Given the description of an element on the screen output the (x, y) to click on. 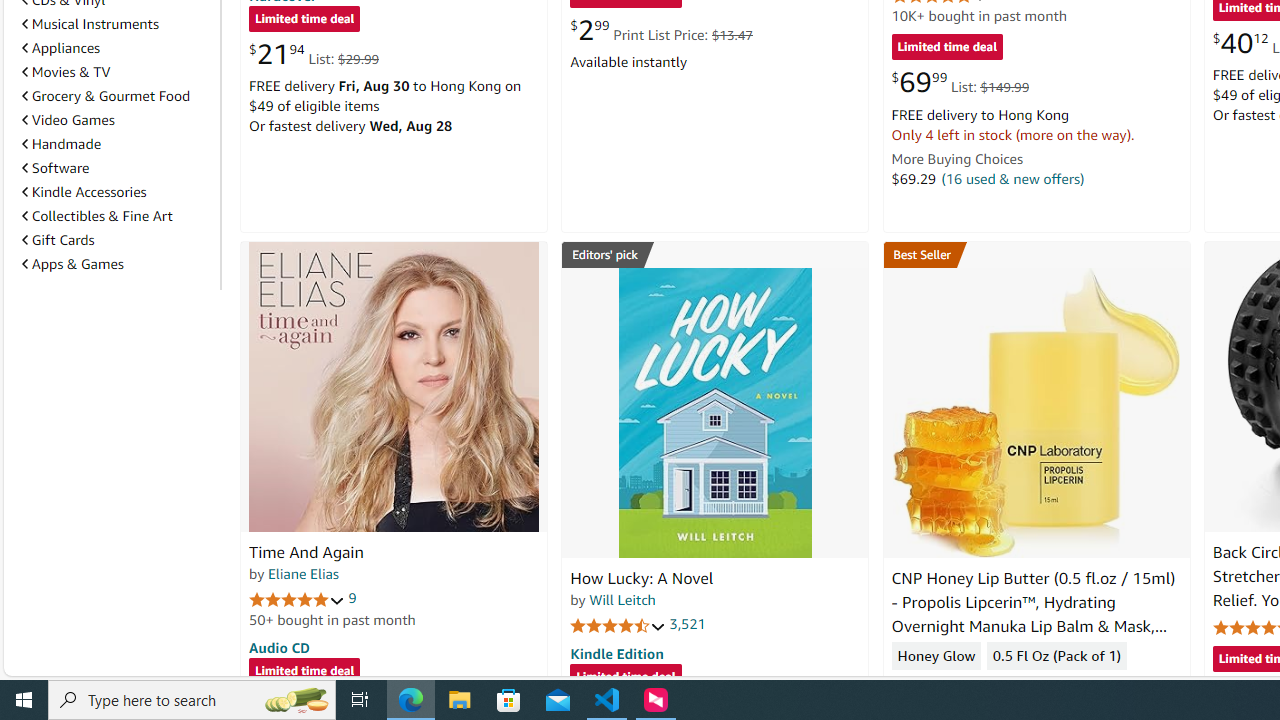
4.3 out of 5 stars (939, 685)
(16 used & new offers) (1012, 178)
Gift Cards (57, 240)
Musical Instruments (89, 24)
Kindle Edition (616, 653)
Gift Cards (117, 239)
Time And Again (393, 386)
Collectibles & Fine Art (96, 215)
$69.99 List: $149.99 (960, 82)
Audio CD (279, 646)
Apps & Games (72, 263)
$2.99 Print List Price: $13.47 (660, 30)
Appliances (61, 47)
